Given the description of an element on the screen output the (x, y) to click on. 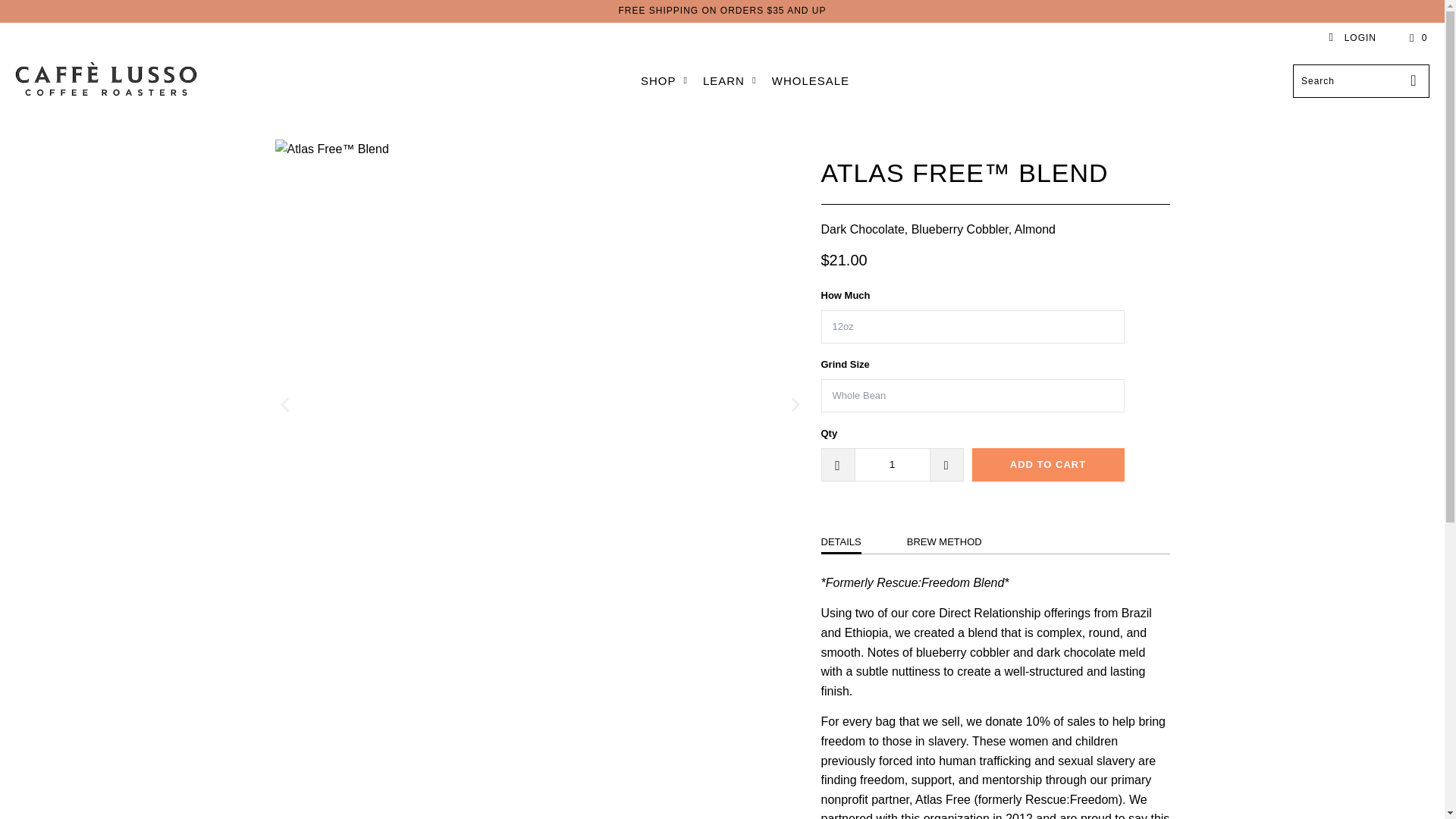
My Account  (1351, 37)
LOGIN (1351, 37)
1 (891, 464)
